Given the description of an element on the screen output the (x, y) to click on. 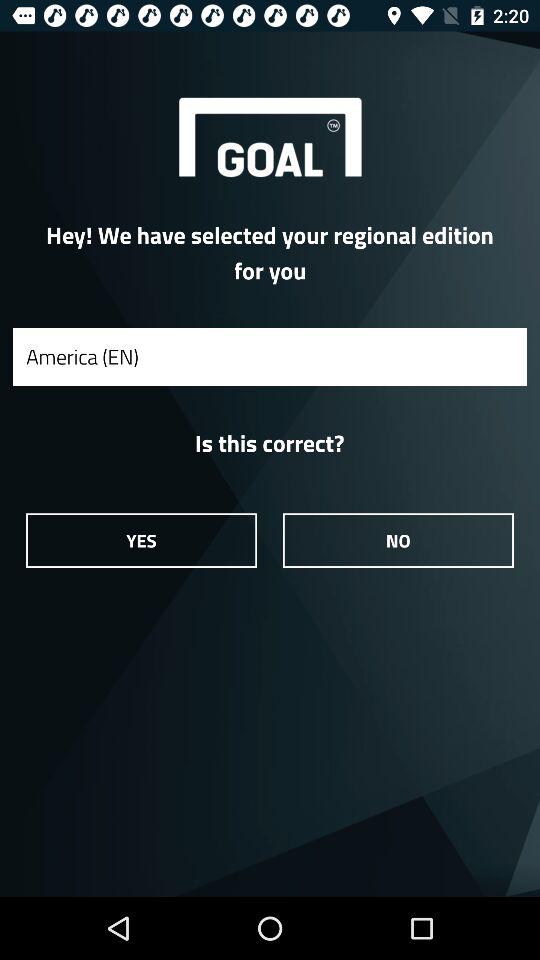
open no icon (398, 540)
